Given the description of an element on the screen output the (x, y) to click on. 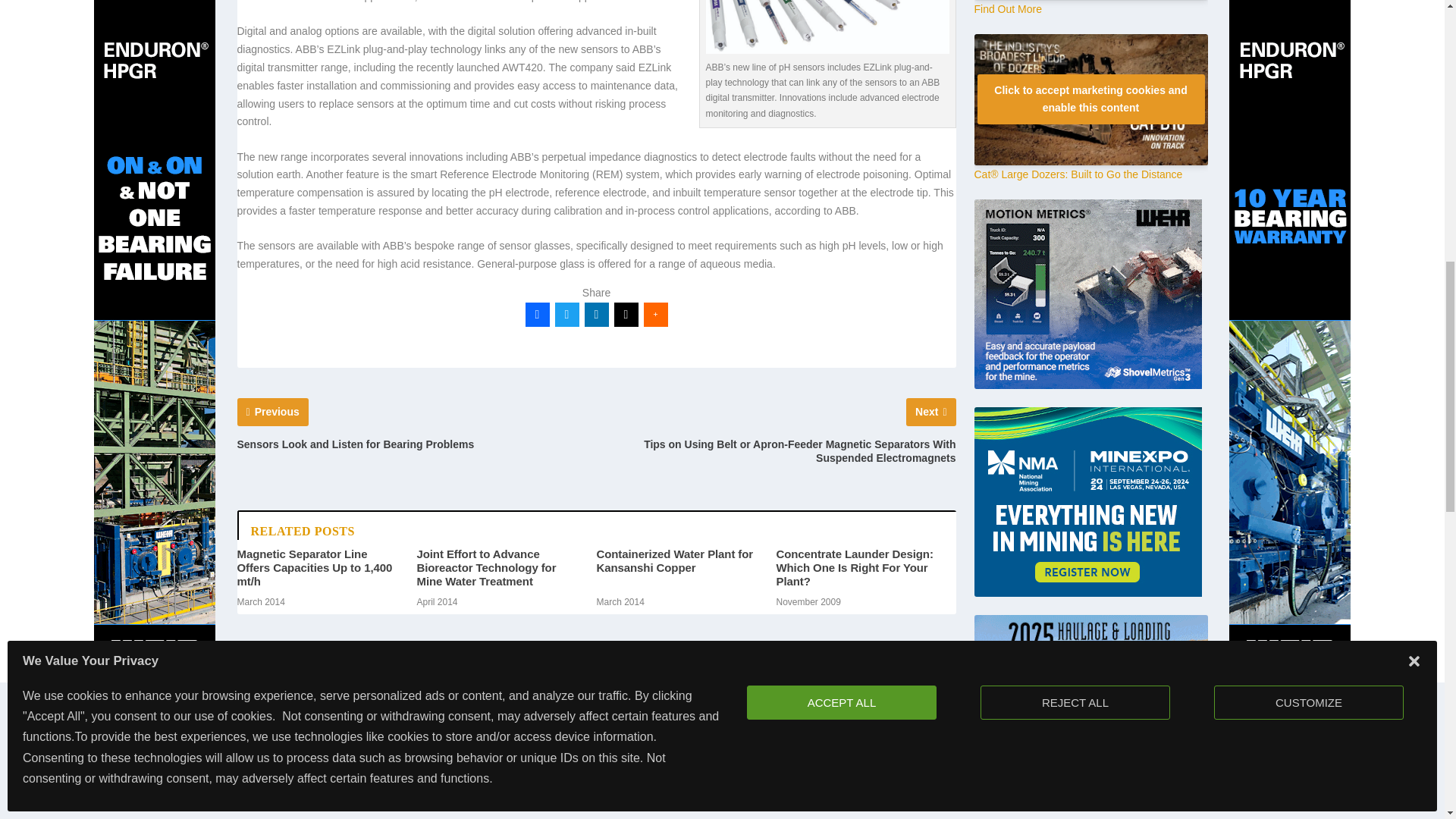
More share links (654, 313)
Share this on Facebook (536, 313)
Add this to LinkedIn (595, 313)
Tweet this ! (566, 313)
Email this  (626, 313)
